Given the description of an element on the screen output the (x, y) to click on. 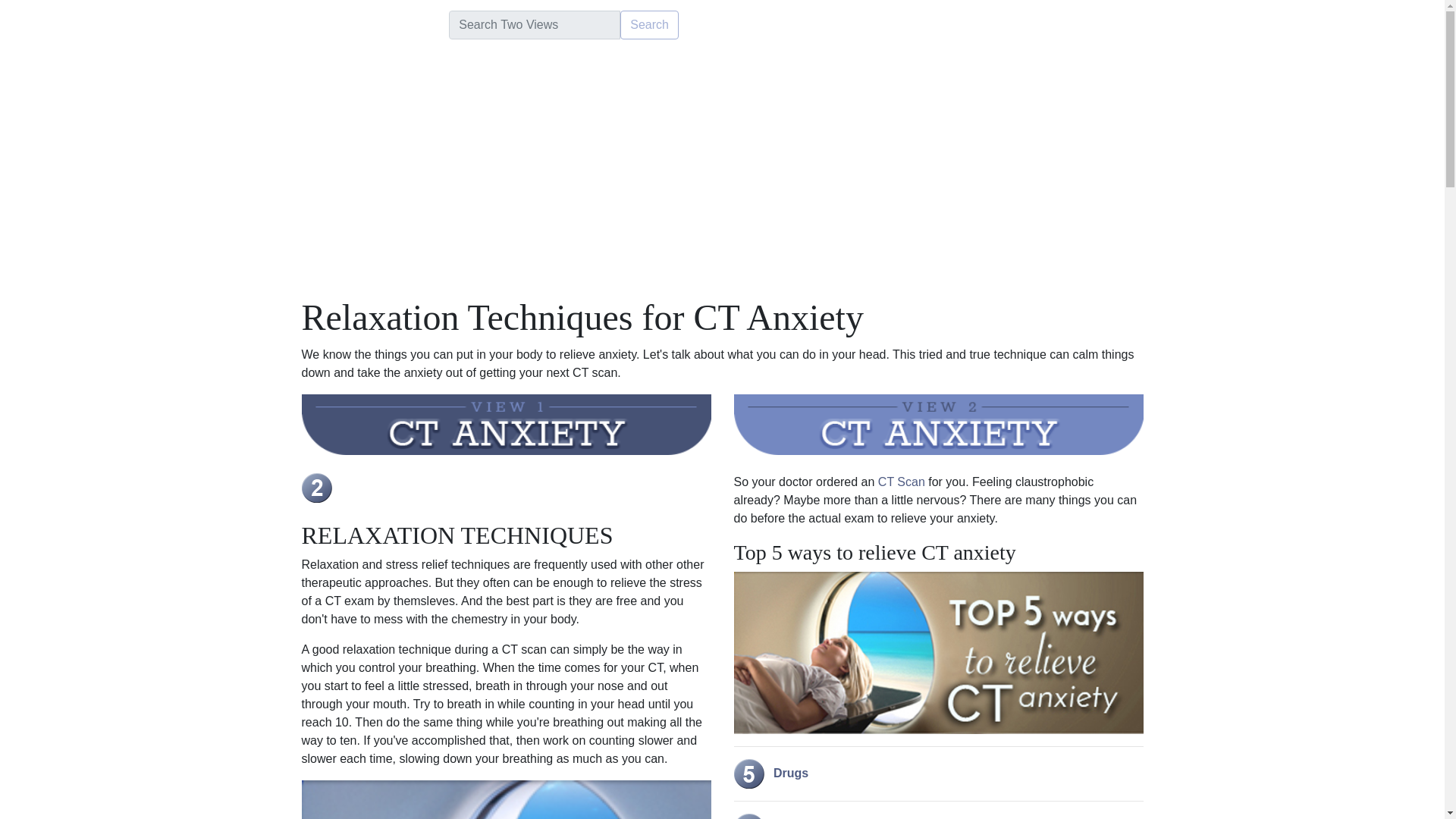
Health (251, 24)
Drugs (771, 772)
Home (198, 24)
Search (649, 24)
CT Scan (900, 481)
Medical Imaging (392, 24)
Wisdom (307, 24)
